Given the description of an element on the screen output the (x, y) to click on. 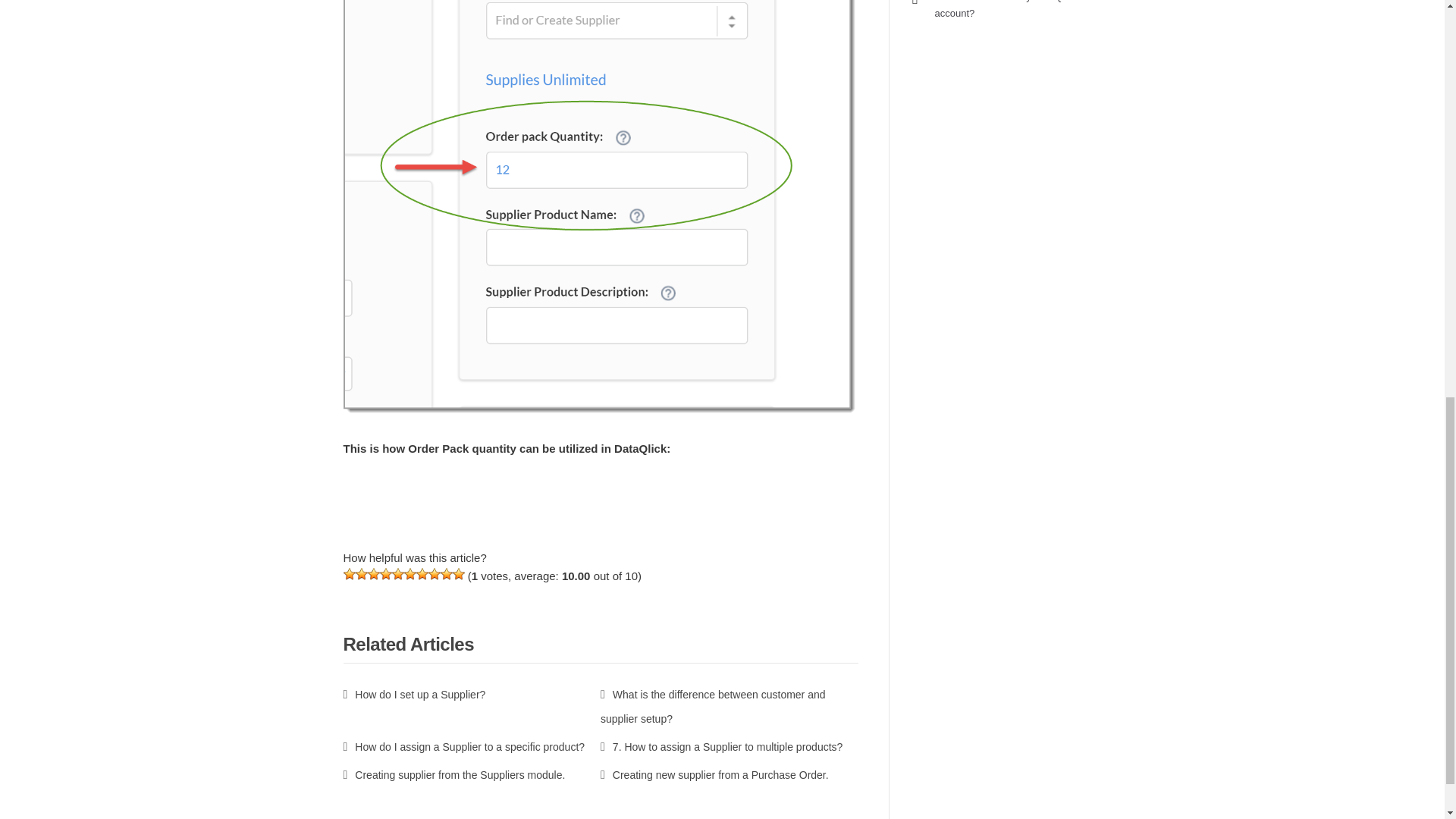
4 Stars (384, 573)
1 Star (348, 573)
7. How to assign a Supplier to multiple products? (721, 746)
7 Stars (421, 573)
How do I assign a Supplier to a specific product? (463, 746)
5 Stars (397, 573)
Can I add users to my DataQlick account? (1004, 9)
What is the difference between customer and supplier setup? (712, 706)
Creating new supplier from a Purchase Order. (713, 775)
Creating supplier from the Suppliers module. (453, 775)
3 Stars (372, 573)
8 Stars (433, 573)
6 Stars (408, 573)
How do I set up a Supplier? (413, 694)
2 Stars (360, 573)
